Given the description of an element on the screen output the (x, y) to click on. 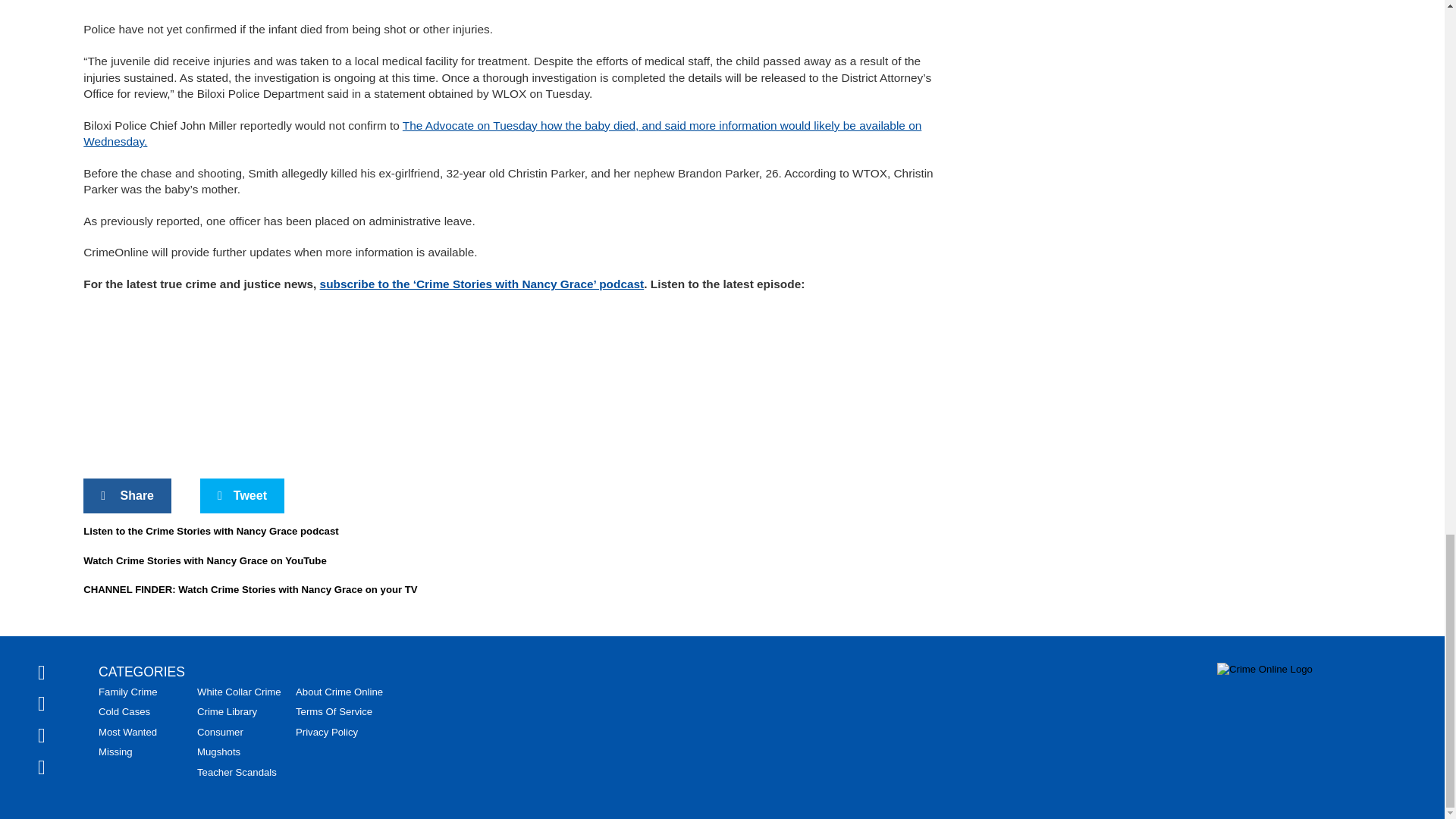
Tweet (241, 495)
Share (126, 495)
Listen to the Crime Stories with Nancy Grace podcast (209, 531)
Watch Crime Stories with Nancy Grace on YouTube (204, 560)
